Given the description of an element on the screen output the (x, y) to click on. 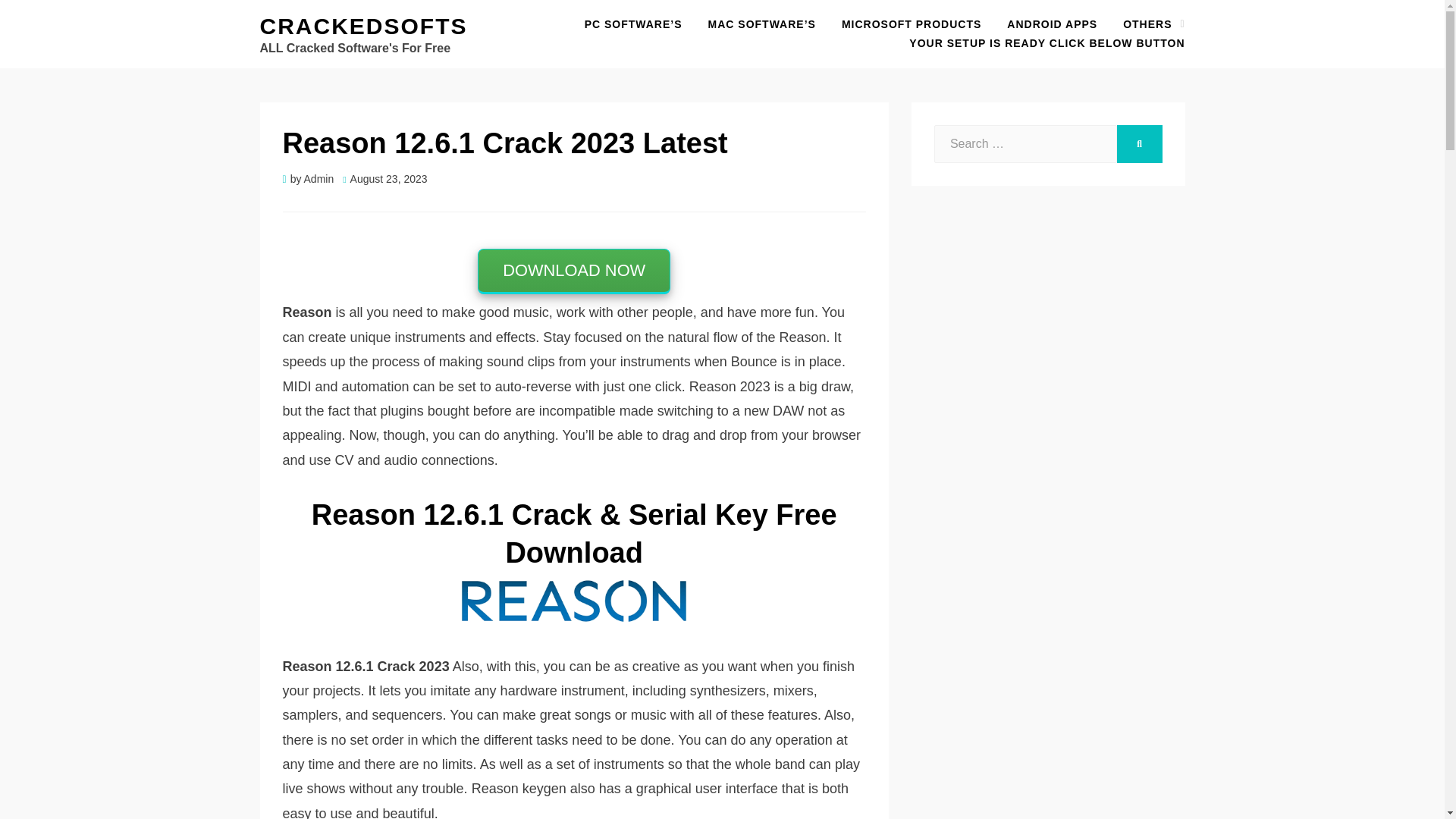
August 23, 2023 (384, 178)
CRACKEDSOFTS (363, 25)
OTHERS (1147, 24)
DOWNLOAD NOW (573, 271)
ANDROID APPS (1051, 24)
Search for: (1025, 143)
Admin (319, 178)
CrackeDSofts (363, 25)
MICROSOFT PRODUCTS (911, 24)
YOUR SETUP IS READY CLICK BELOW BUTTON (1040, 43)
